Given the description of an element on the screen output the (x, y) to click on. 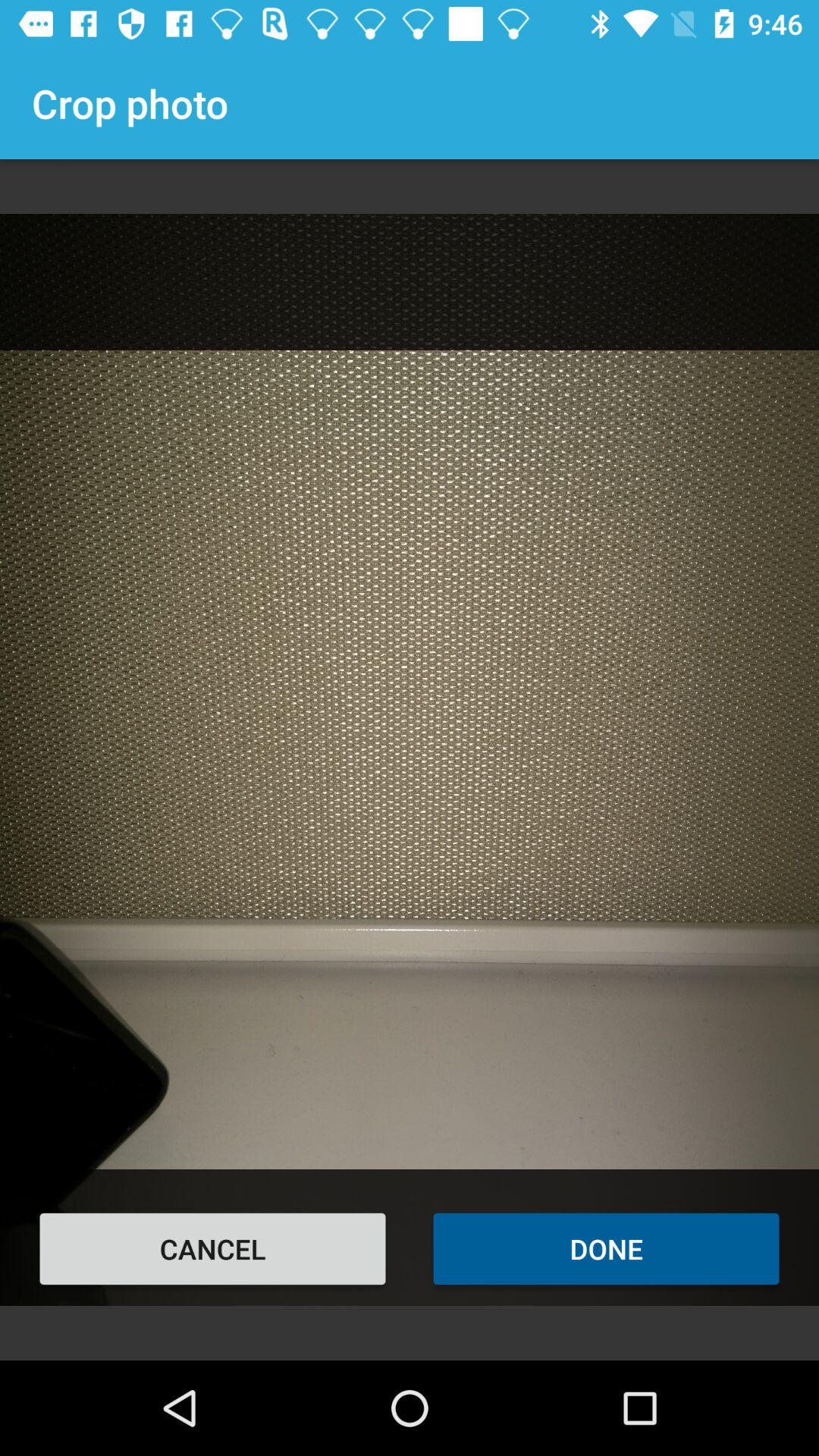
turn on icon to the left of done item (212, 1248)
